Given the description of an element on the screen output the (x, y) to click on. 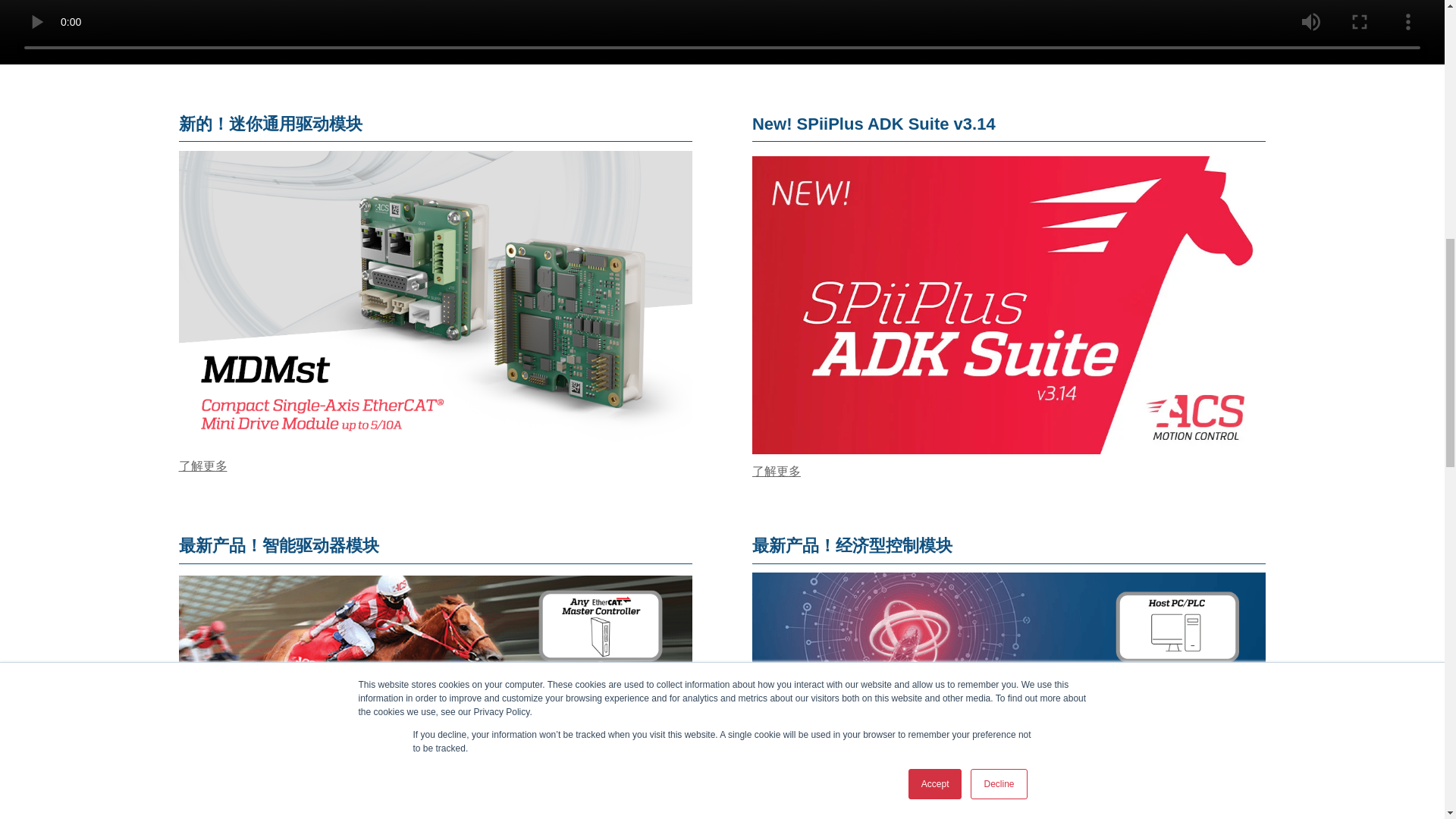
IDMdx-930x539-1-2a (436, 697)
ECMdx-930x539-1-1a (1009, 695)
